Given the description of an element on the screen output the (x, y) to click on. 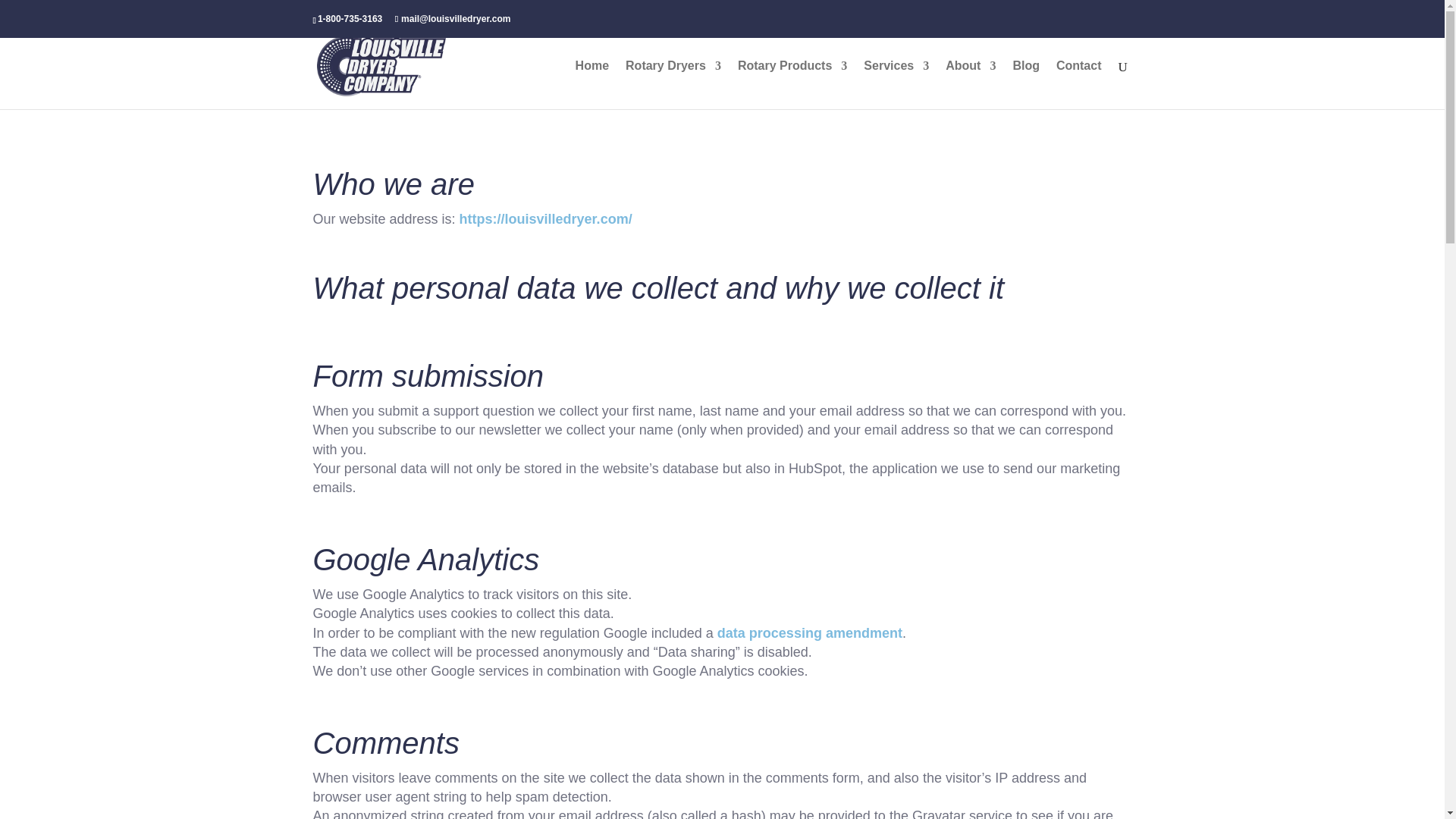
Rotary Dryers (673, 84)
Rotary Products (792, 84)
1-800-735-3163 (349, 18)
Services (895, 84)
